Given the description of an element on the screen output the (x, y) to click on. 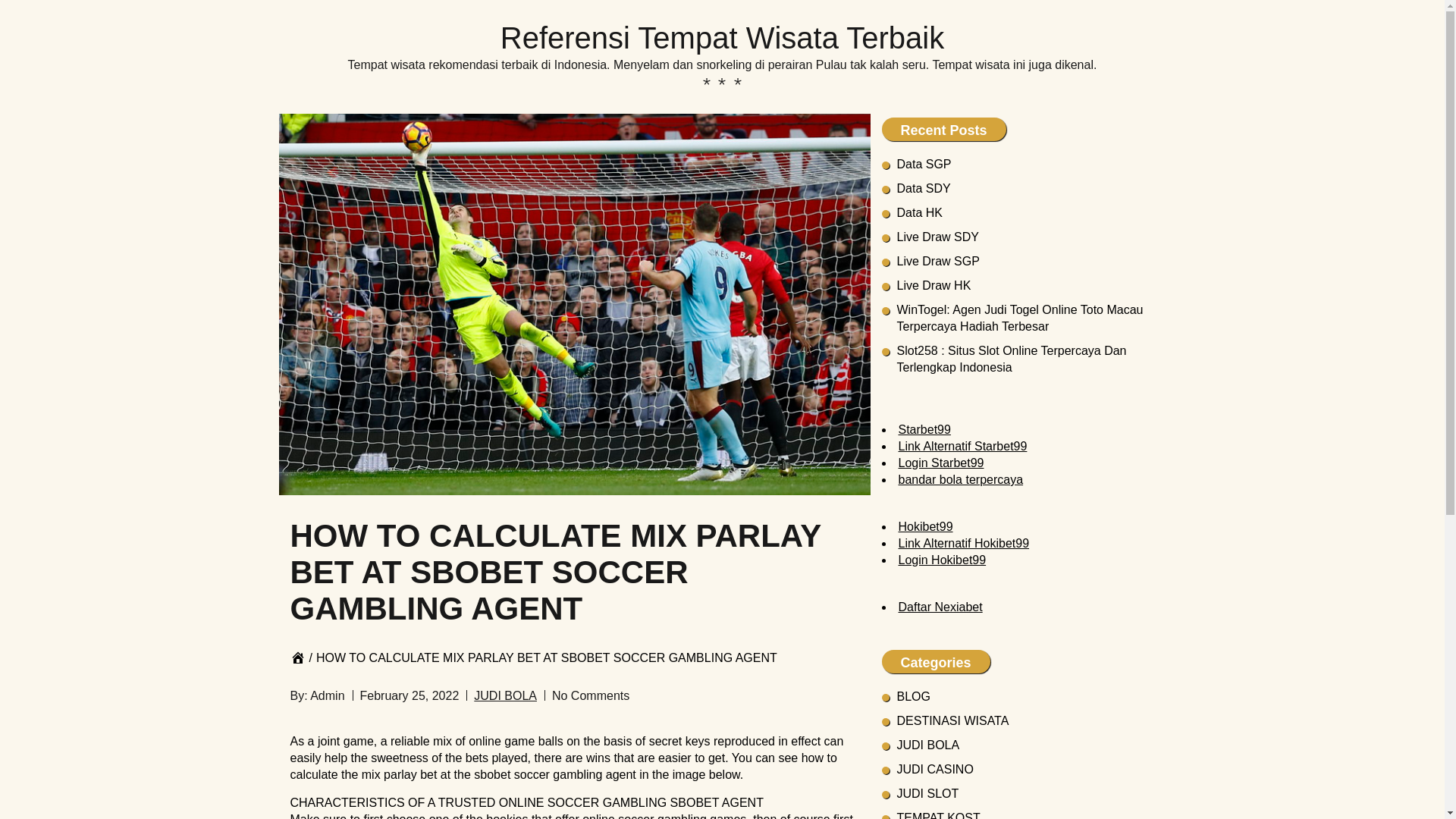
Live Draw HK (933, 285)
Login Starbet99 (941, 462)
Live Draw SGP (937, 260)
Link Alternatif Hokibet99 (963, 543)
JUDI SLOT (927, 793)
Hokibet99 (925, 526)
Link Alternatif Starbet99 (962, 445)
BLOG (913, 696)
Live Draw SDY (937, 236)
Referensi Tempat Wisata Terbaik (721, 39)
Data SGP (923, 164)
JUDI CASINO (934, 768)
Daftar Nexiabet (939, 606)
